Given the description of an element on the screen output the (x, y) to click on. 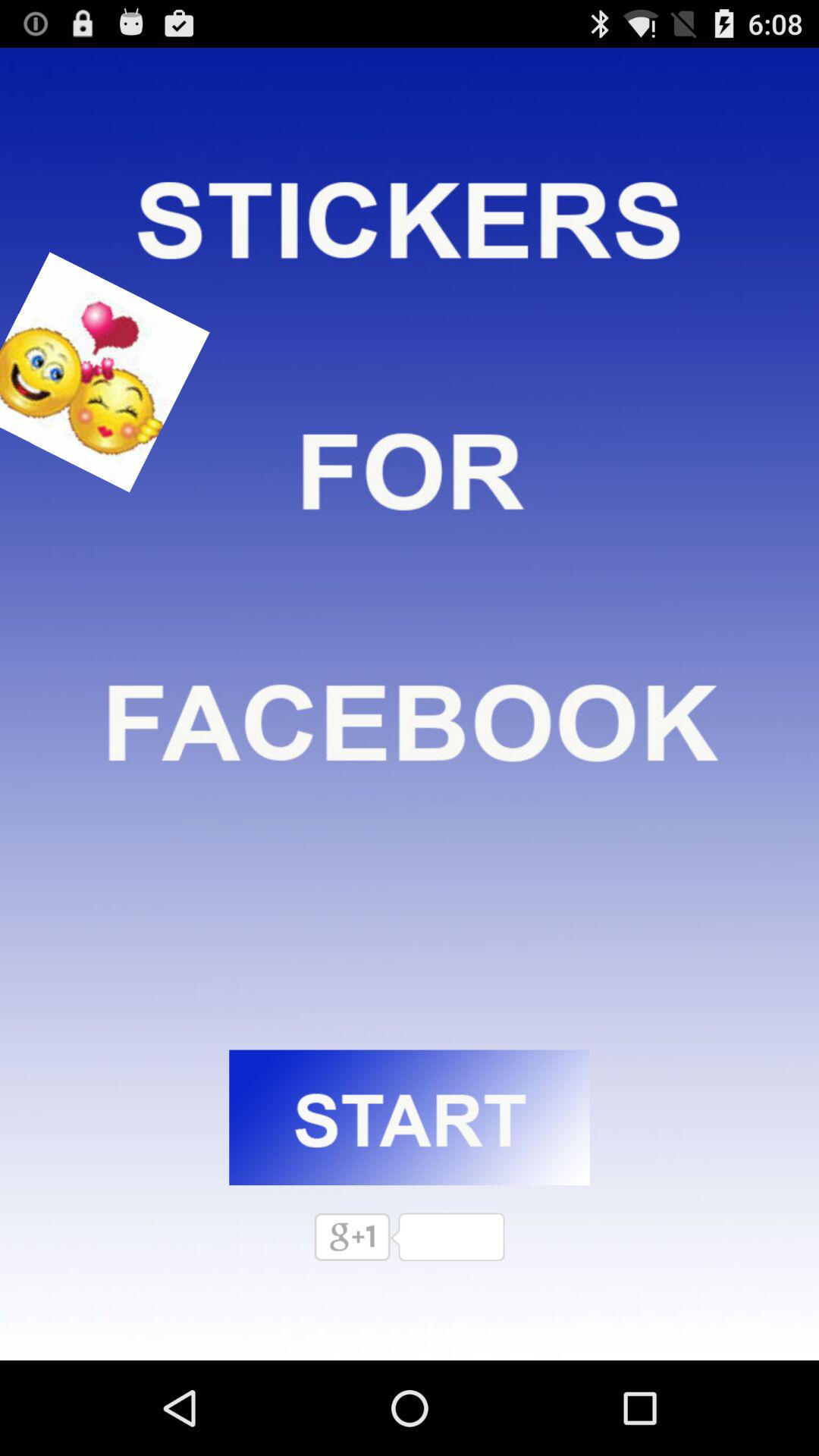
facebook emoji sticker (89, 371)
